Given the description of an element on the screen output the (x, y) to click on. 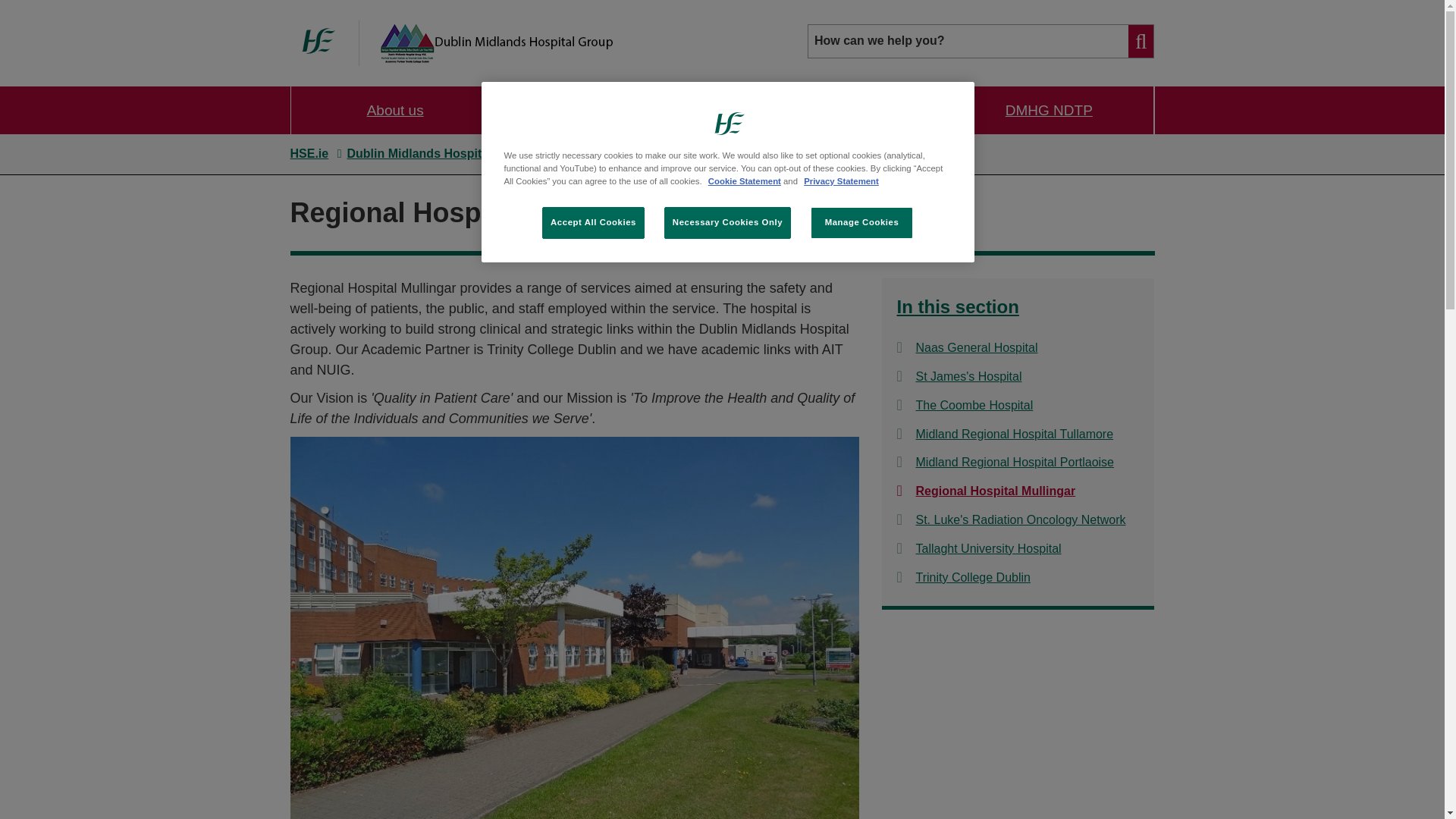
DMHG NDTP (1048, 110)
About us (395, 110)
News (768, 110)
How can we help you? (981, 41)
Our Hospitals (605, 110)
Blog (885, 110)
